Given the description of an element on the screen output the (x, y) to click on. 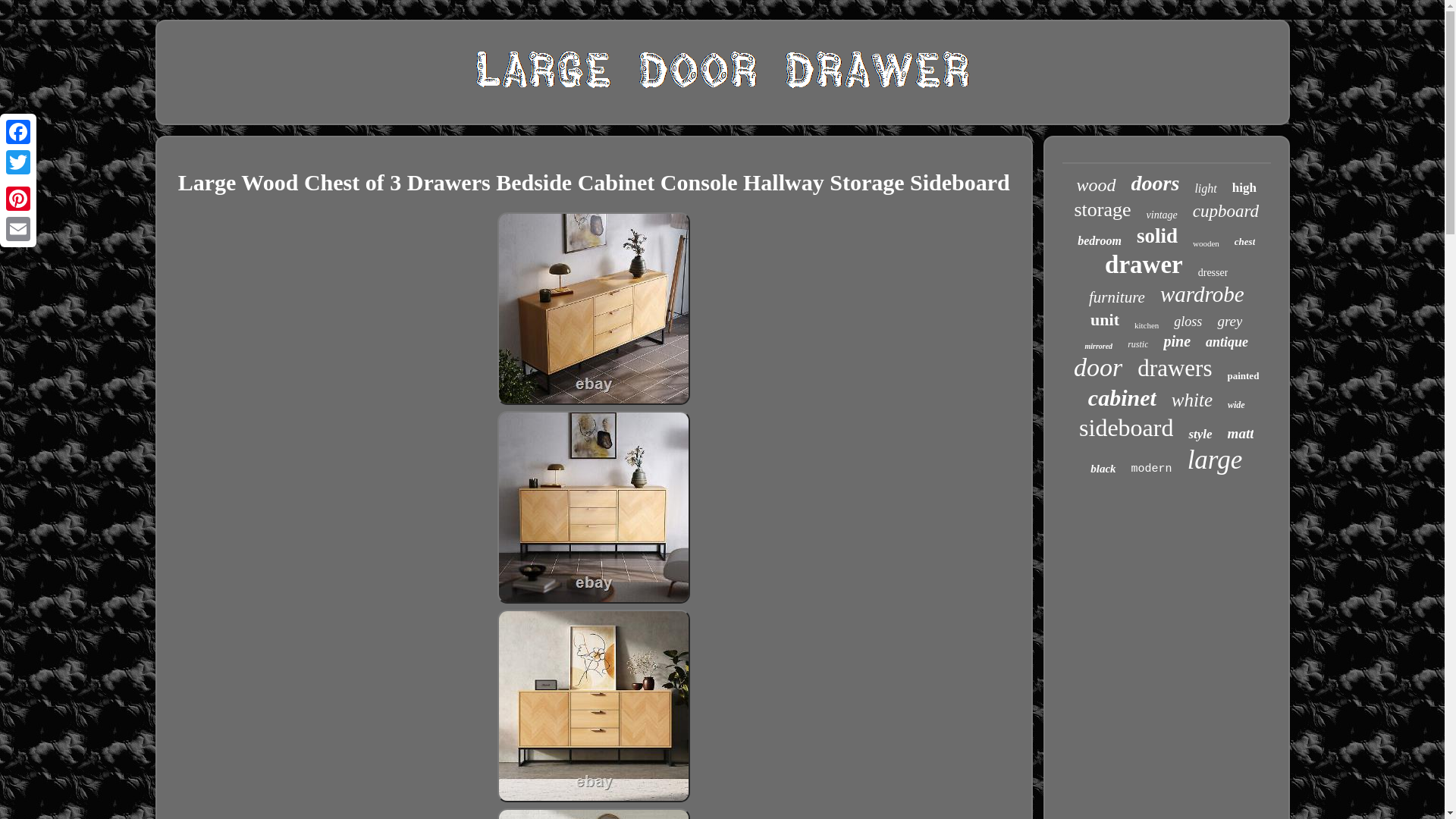
furniture (1116, 297)
kitchen (1146, 325)
wardrobe (1202, 294)
storage (1102, 210)
painted (1243, 376)
white (1192, 400)
drawer (1143, 264)
wood (1096, 185)
Facebook (17, 132)
